Given the description of an element on the screen output the (x, y) to click on. 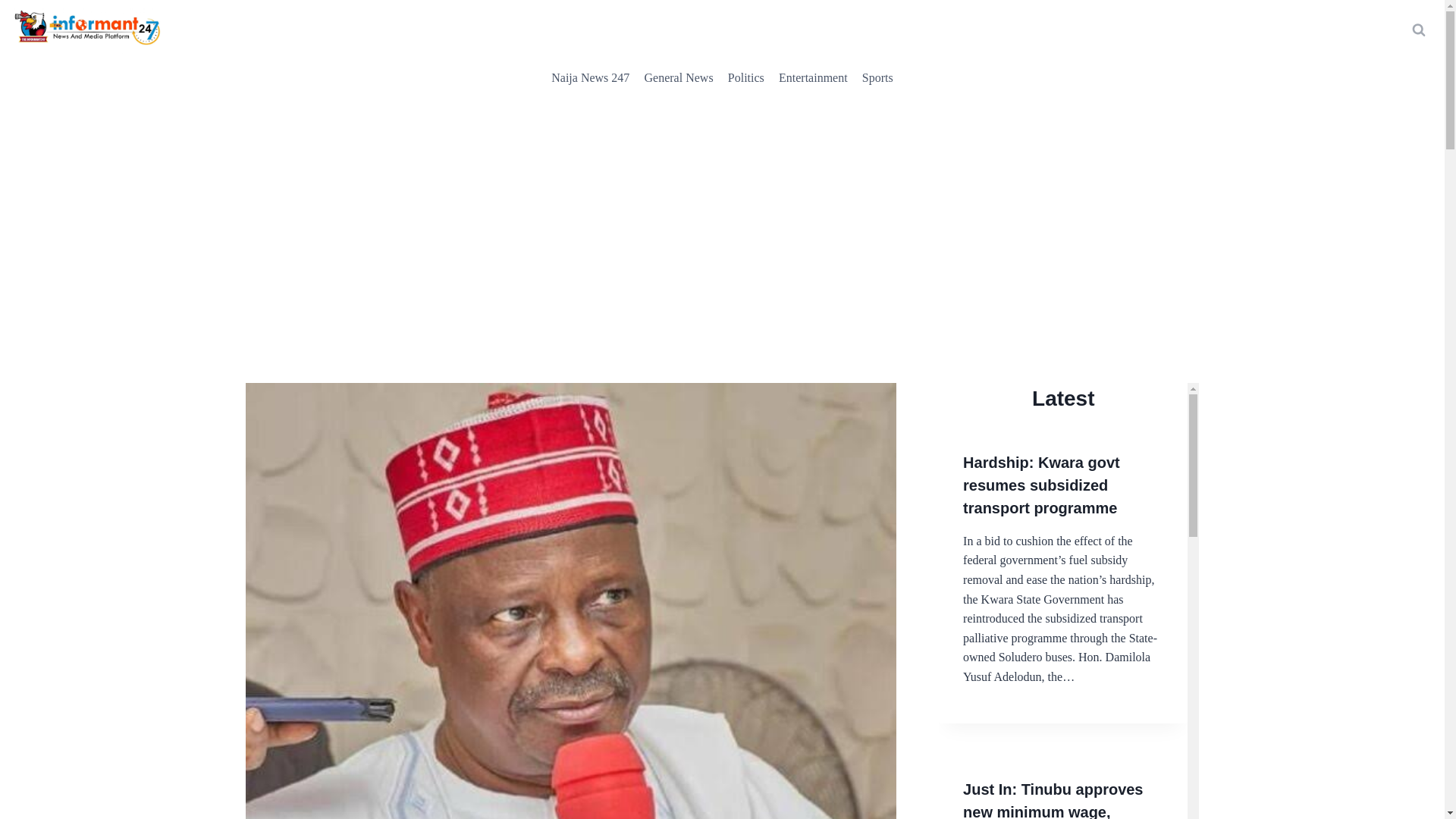
General News (678, 77)
Sports (876, 77)
Entertainment (812, 77)
Politics (745, 77)
Naija News 247 (590, 77)
